Given the description of an element on the screen output the (x, y) to click on. 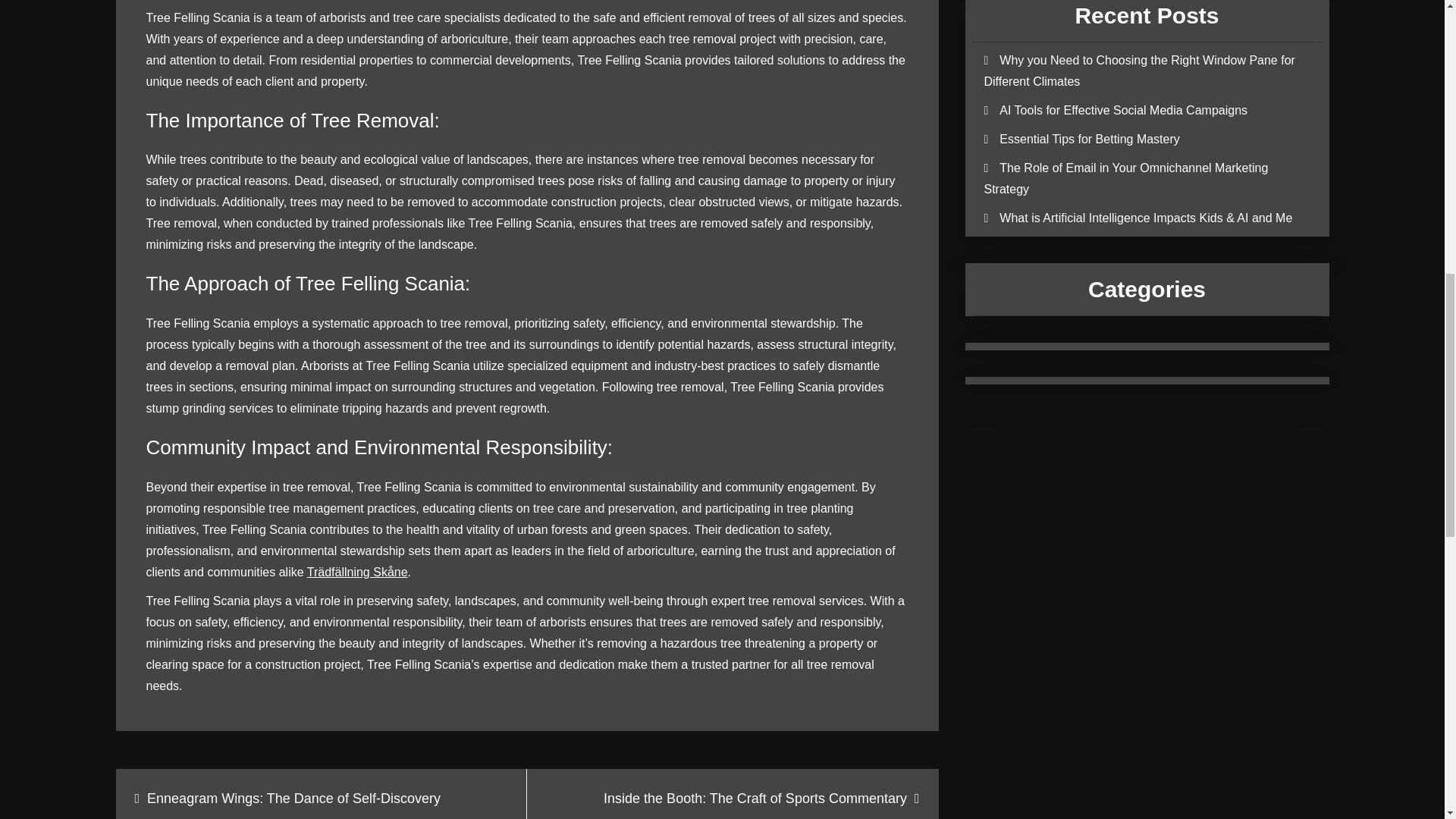
Enneagram Wings: The Dance of Self-Discovery (321, 794)
Inside the Booth: The Craft of Sports Commentary (733, 794)
